Given the description of an element on the screen output the (x, y) to click on. 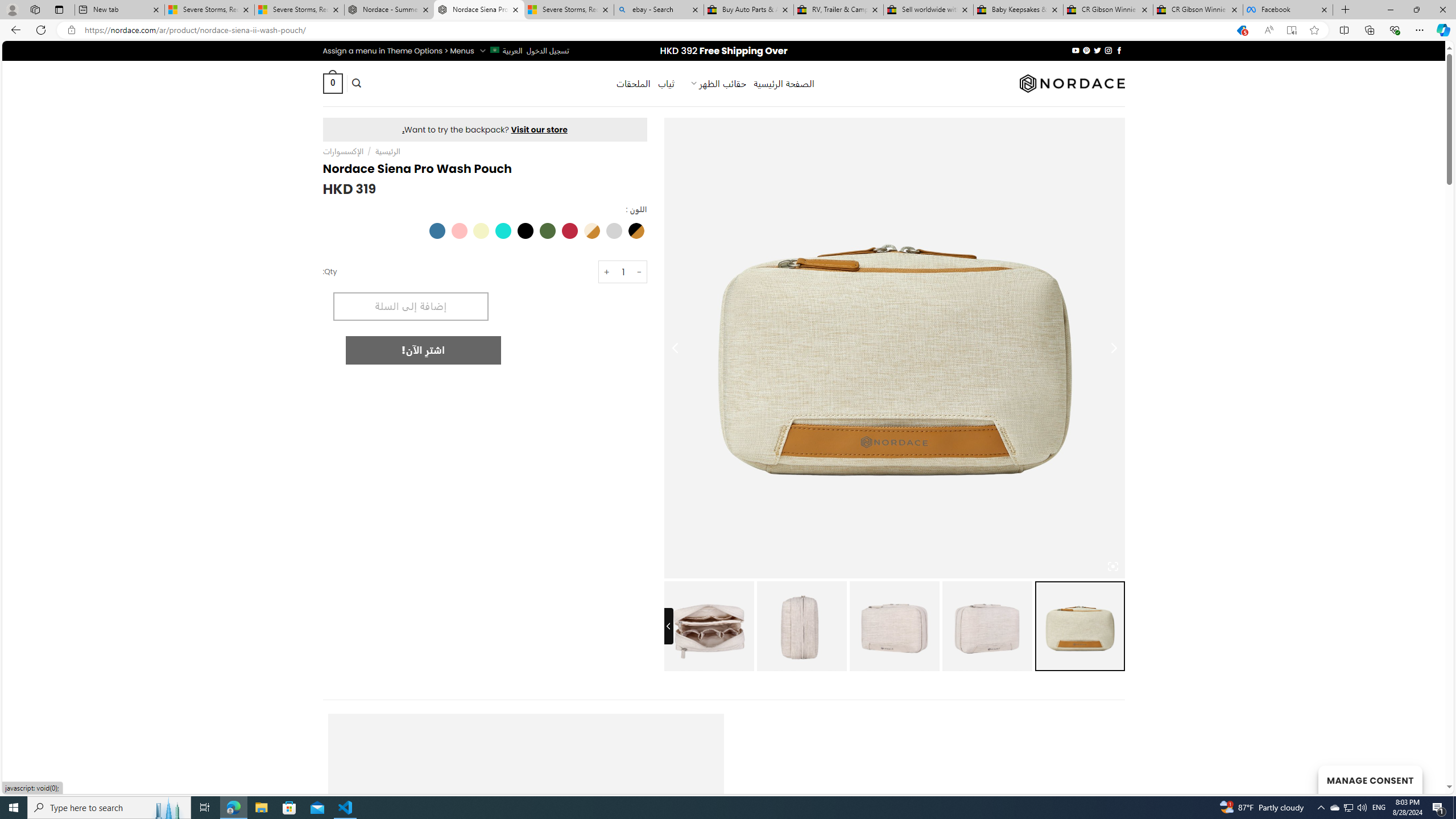
Assign a menu in Theme Options > Menus (397, 50)
You have the best price! (1241, 29)
